Given the description of an element on the screen output the (x, y) to click on. 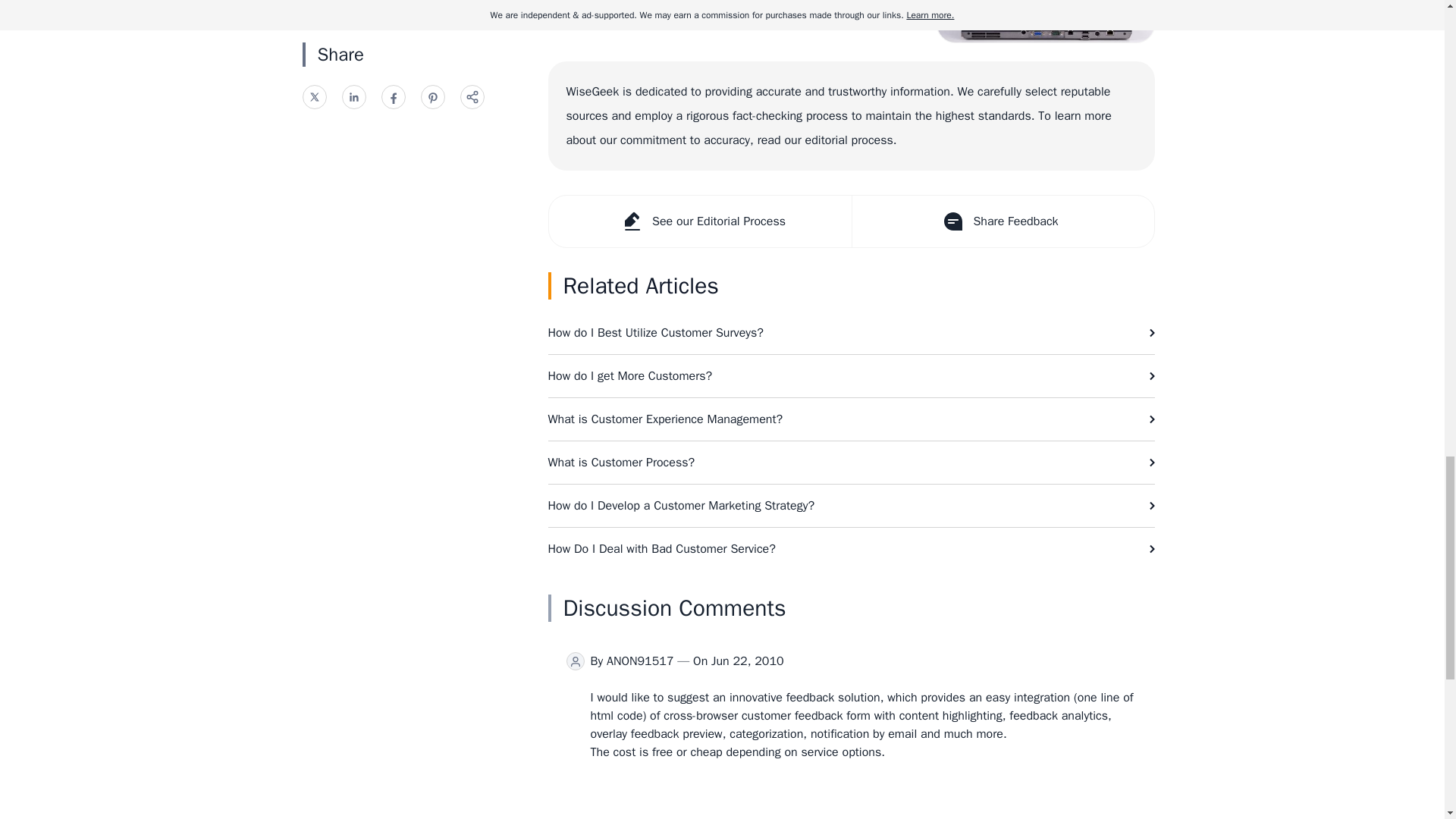
How do I Develop a Customer Marketing Strategy? (850, 505)
See our Editorial Process (699, 221)
What is Customer Experience Management? (850, 419)
What is Customer Process? (850, 462)
How do I get More Customers? (850, 375)
Share Feedback (1001, 221)
How do I Best Utilize Customer Surveys? (850, 332)
How Do I Deal with Bad Customer Service? (850, 548)
